Given the description of an element on the screen output the (x, y) to click on. 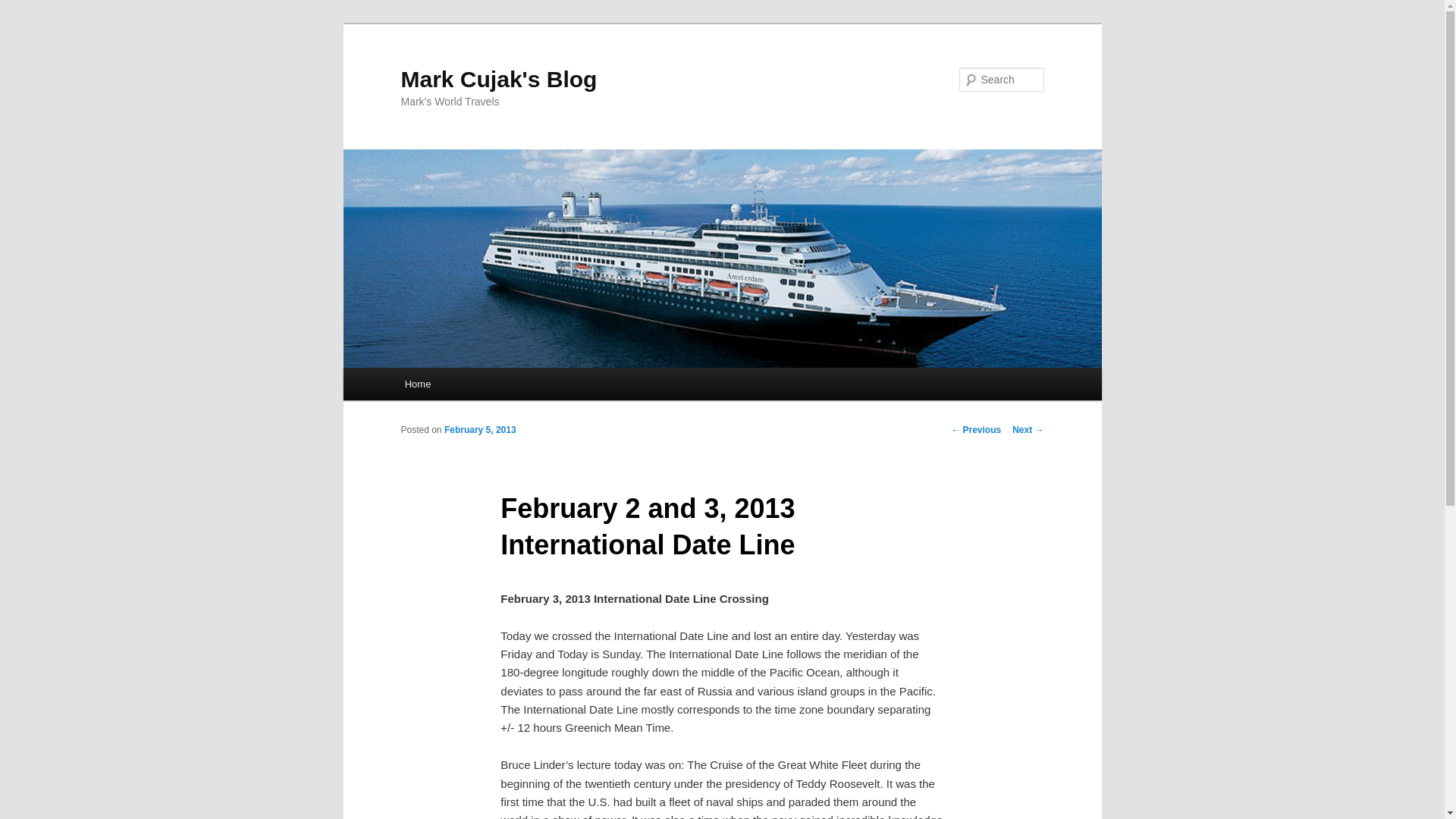
February 5, 2013 (480, 429)
8:36 am (480, 429)
Mark Cujak's Blog (498, 78)
Home (417, 383)
Search (24, 8)
